Given the description of an element on the screen output the (x, y) to click on. 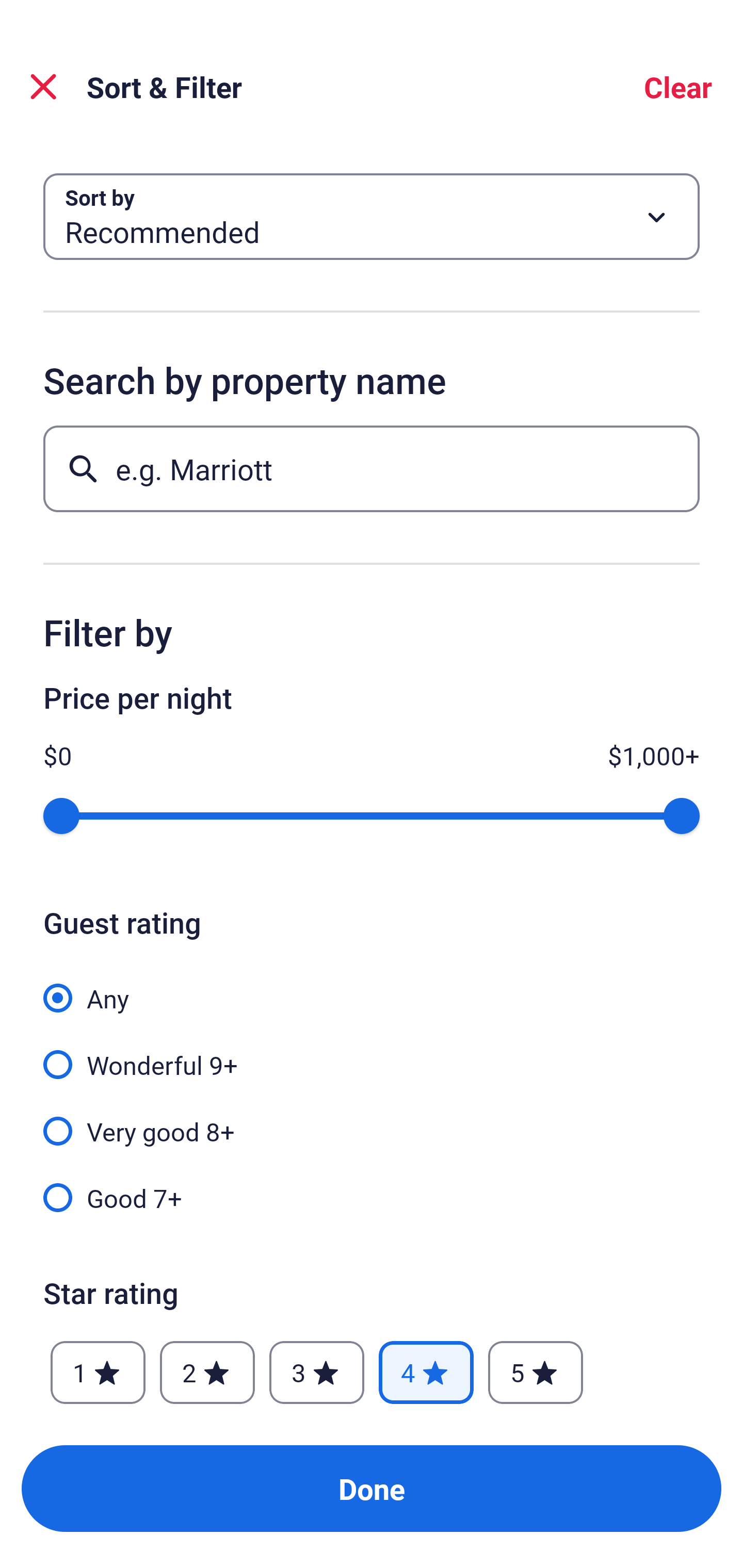
Close Sort and Filter (43, 86)
Clear (677, 86)
Sort by Button Recommended (371, 217)
e.g. Marriott Button (371, 468)
Wonderful 9+ (371, 1053)
Very good 8+ (371, 1120)
Good 7+ (371, 1197)
1 (97, 1372)
2 (206, 1372)
3 (316, 1372)
4 (426, 1372)
5 (535, 1372)
Apply and close Sort and Filter Done (371, 1488)
